Given the description of an element on the screen output the (x, y) to click on. 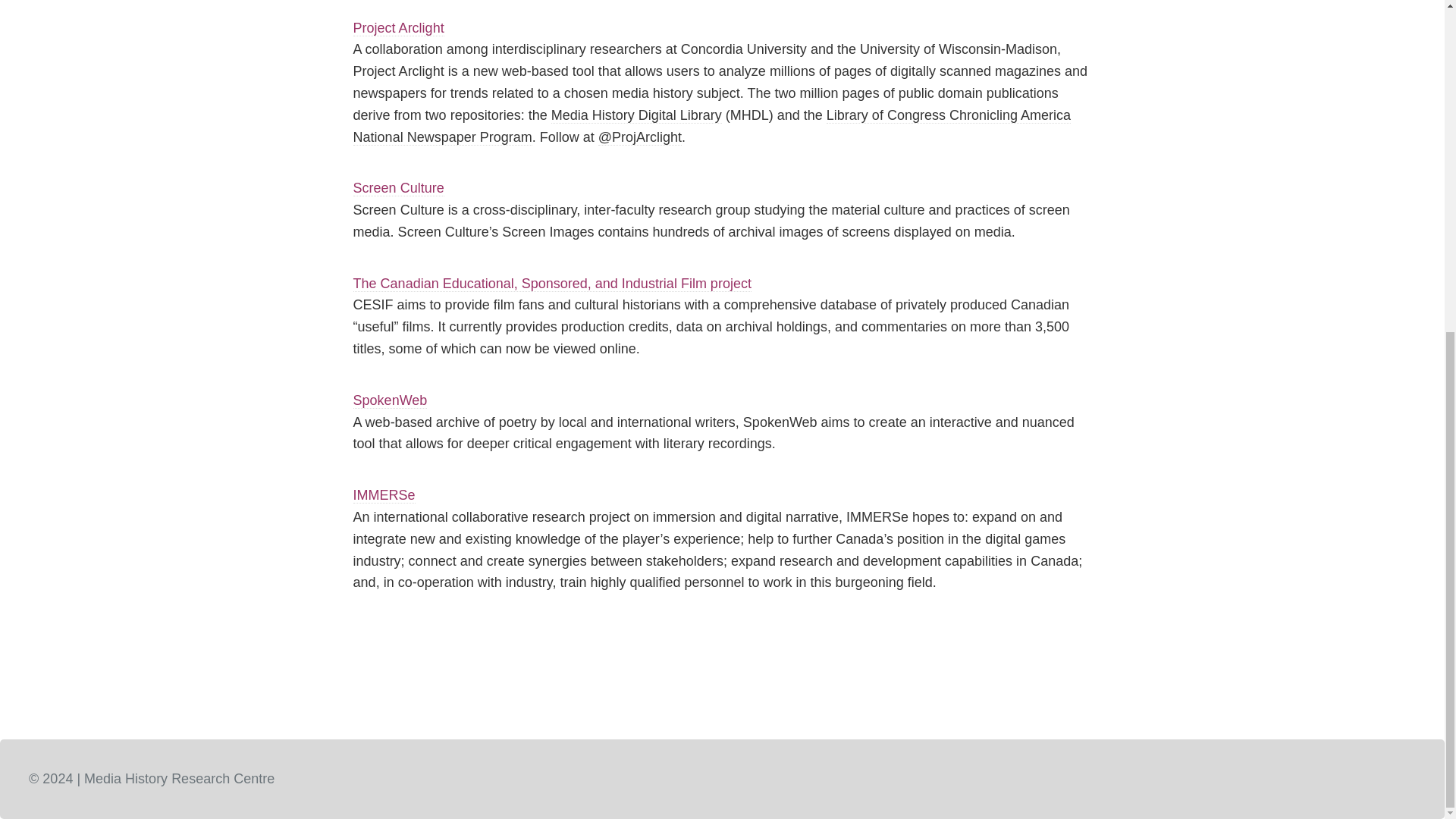
Media History Digital Library (636, 115)
Project Arclight (398, 28)
Screen Culture (398, 188)
IMMERSe (383, 495)
SpokenWeb (390, 400)
